Given the description of an element on the screen output the (x, y) to click on. 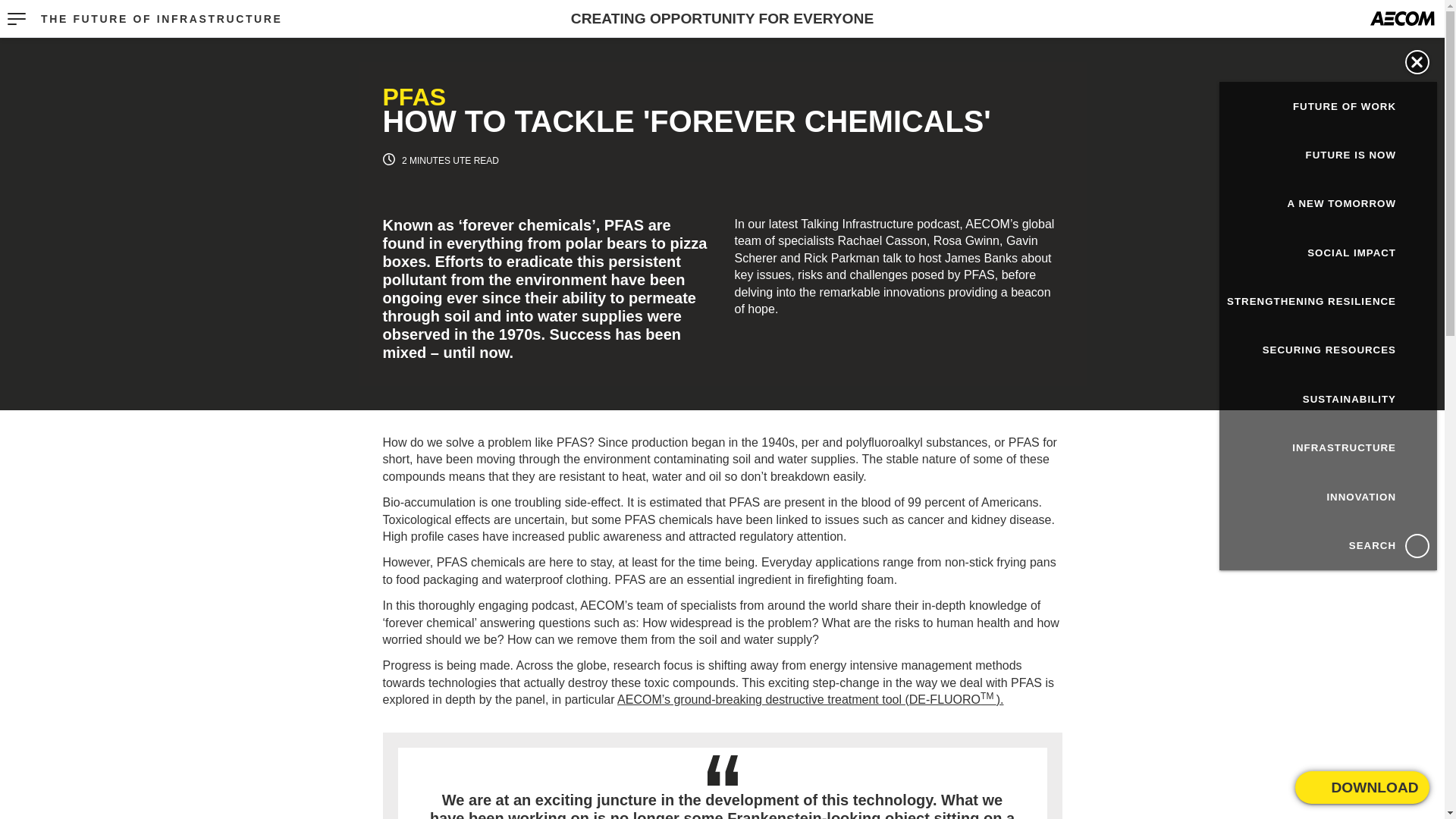
SEARCH (1328, 544)
AECOM logo (1402, 18)
A NEW TOMORROW (1328, 203)
THE FUTURE OF INFRASTRUCTURE (161, 19)
FUTURE IS NOW (1328, 154)
SUSTAINABILITY (1328, 398)
INFRASTRUCTURE (1328, 448)
SECURING RESOURCES (1328, 349)
STRENGTHENING RESILIENCE (1328, 301)
SOCIAL IMPACT (1328, 252)
FUTURE OF WORK (1328, 105)
INNOVATION (1328, 496)
